Given the description of an element on the screen output the (x, y) to click on. 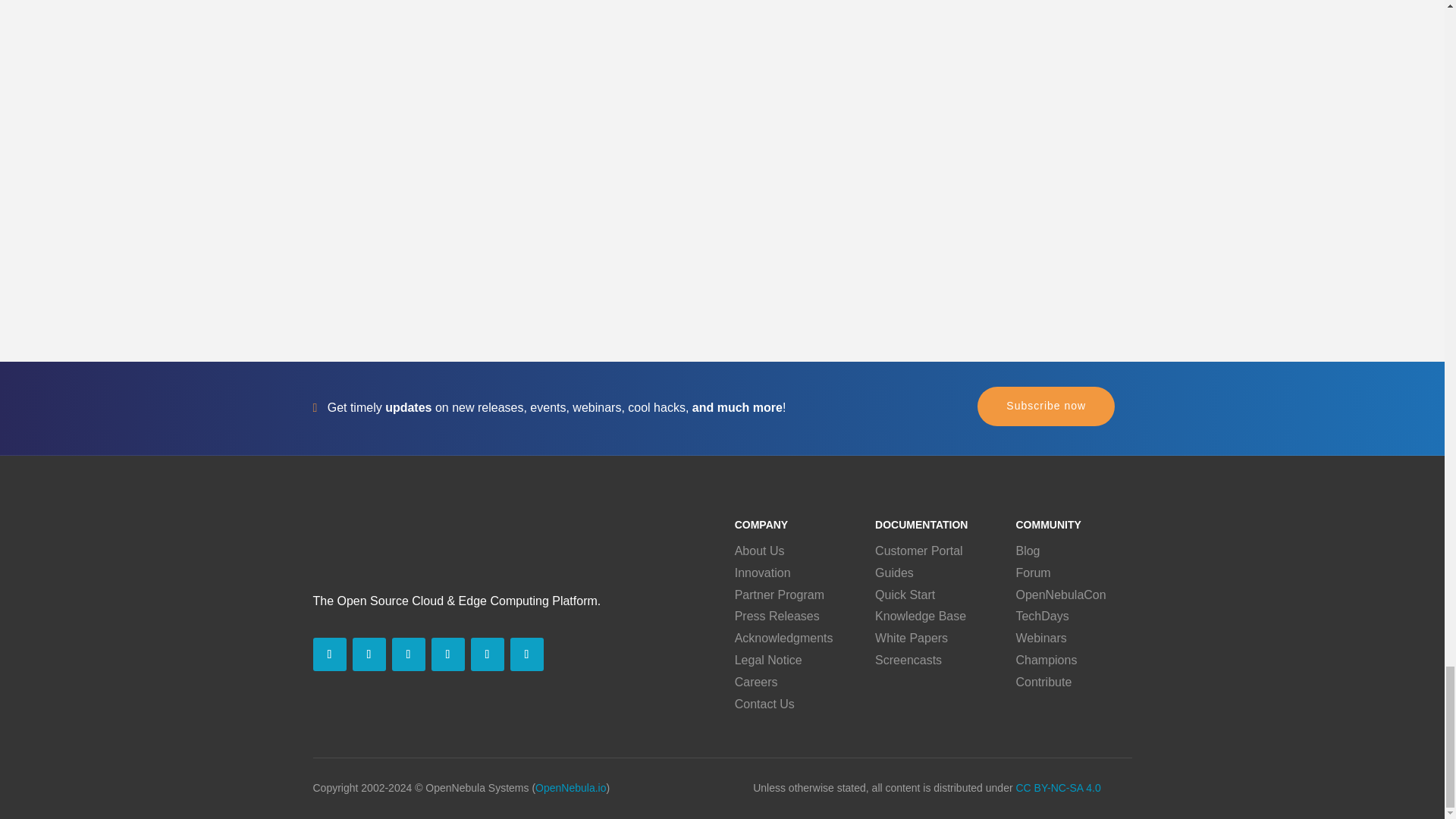
Follow on X (368, 654)
Follow on LinkedIn (329, 654)
Follow on Youtube (447, 654)
Follow on GitHub (526, 654)
Follow on RSS (486, 654)
Follow on Facebook (408, 654)
